Given the description of an element on the screen output the (x, y) to click on. 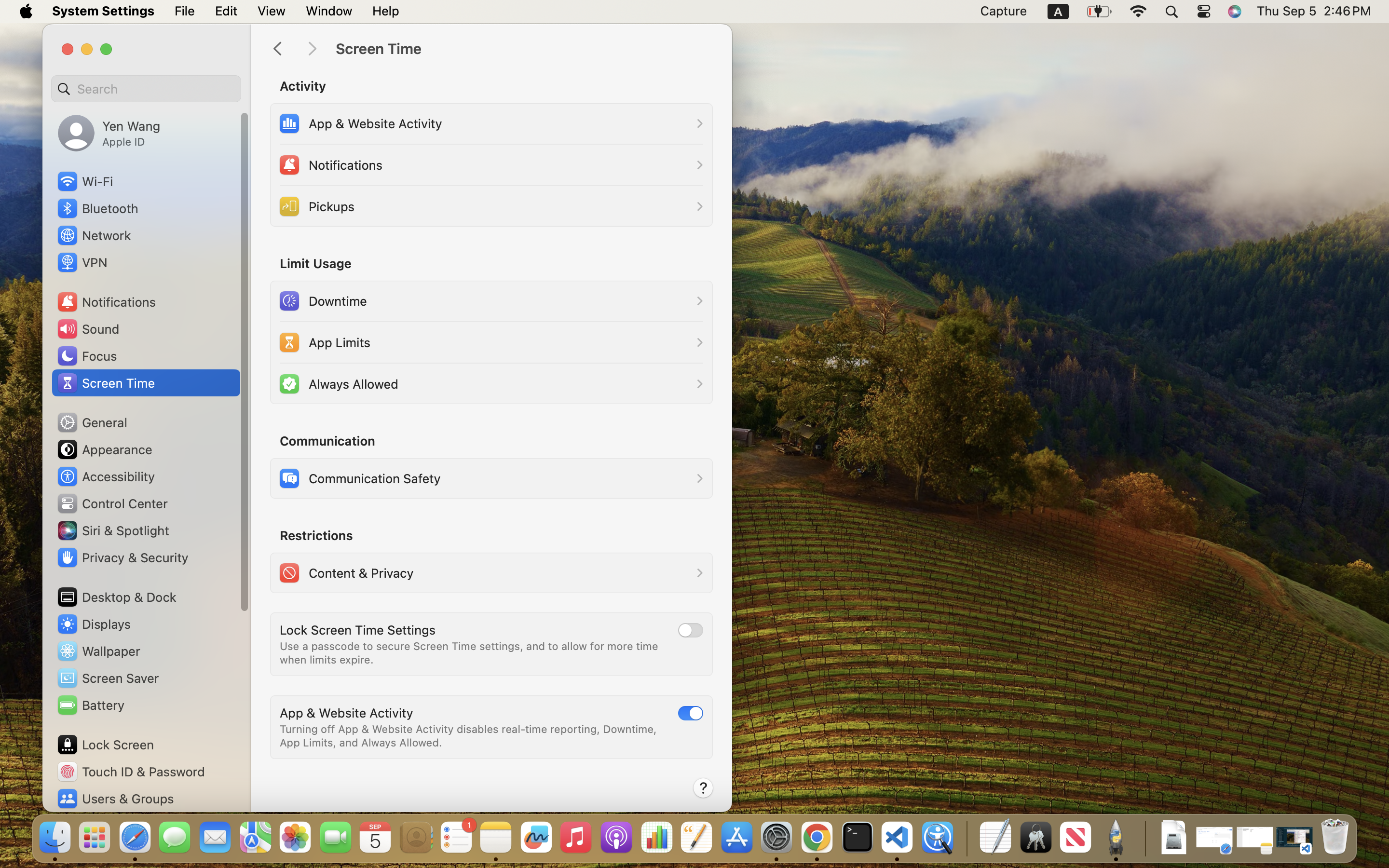
Screen Time Element type: AXStaticText (523, 49)
Turning off App & Website Activity disables real-time reporting, Downtime, App Limits, and Always Allowed. Element type: AXStaticText (469, 735)
Touch ID & Password Element type: AXStaticText (130, 771)
Lock Screen Time Settings Element type: AXStaticText (357, 629)
Battery Element type: AXStaticText (89, 704)
